Given the description of an element on the screen output the (x, y) to click on. 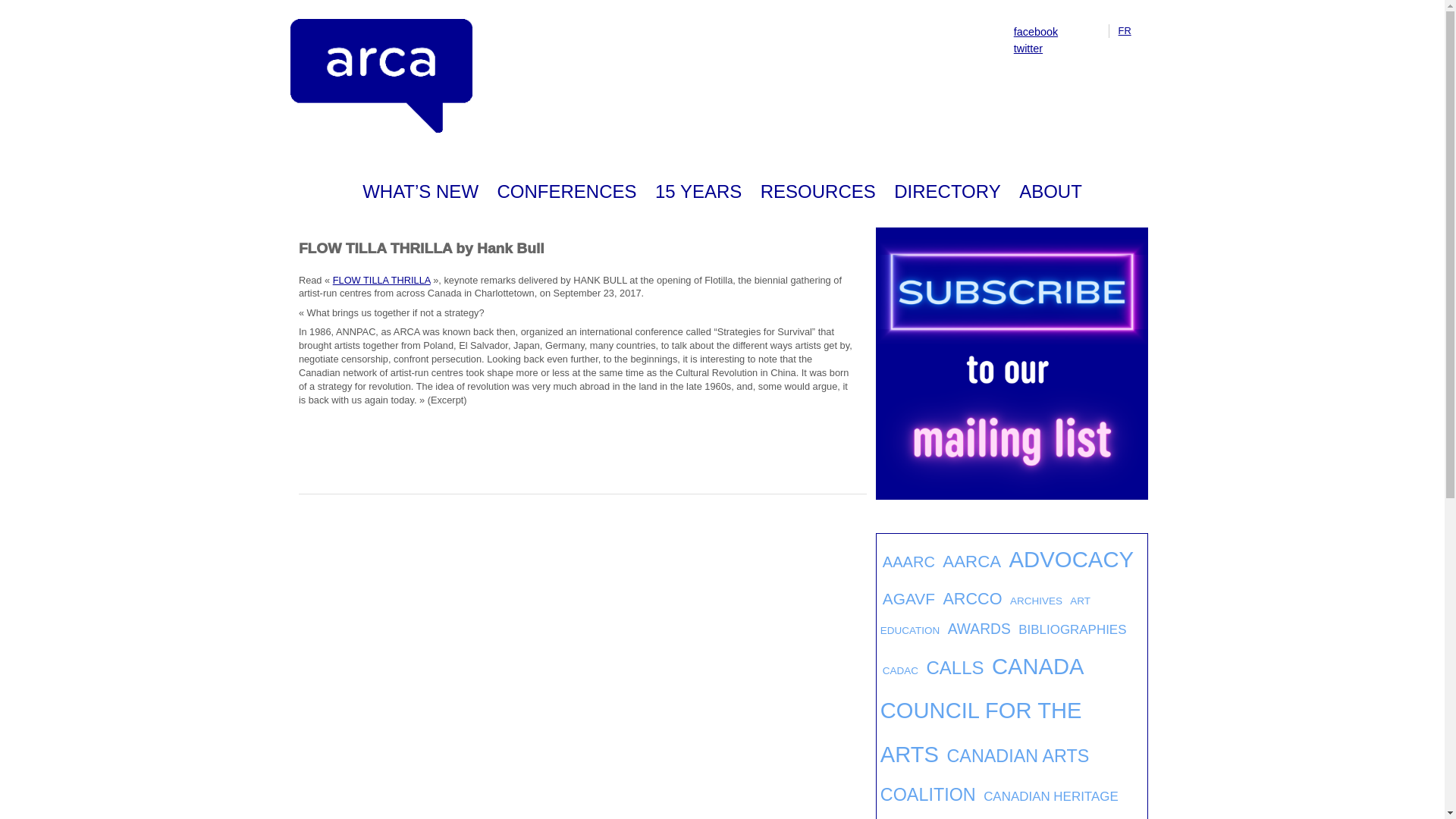
FR (1124, 30)
conferences and proceedings (566, 191)
FLOW TILLA THRILLA (381, 279)
FR (1124, 30)
AWARDS (978, 628)
ABOUT (1050, 191)
BIBLIOGRAPHIES (1071, 629)
twitter (1027, 48)
Resources, studies (818, 191)
AARCA (971, 561)
